Given the description of an element on the screen output the (x, y) to click on. 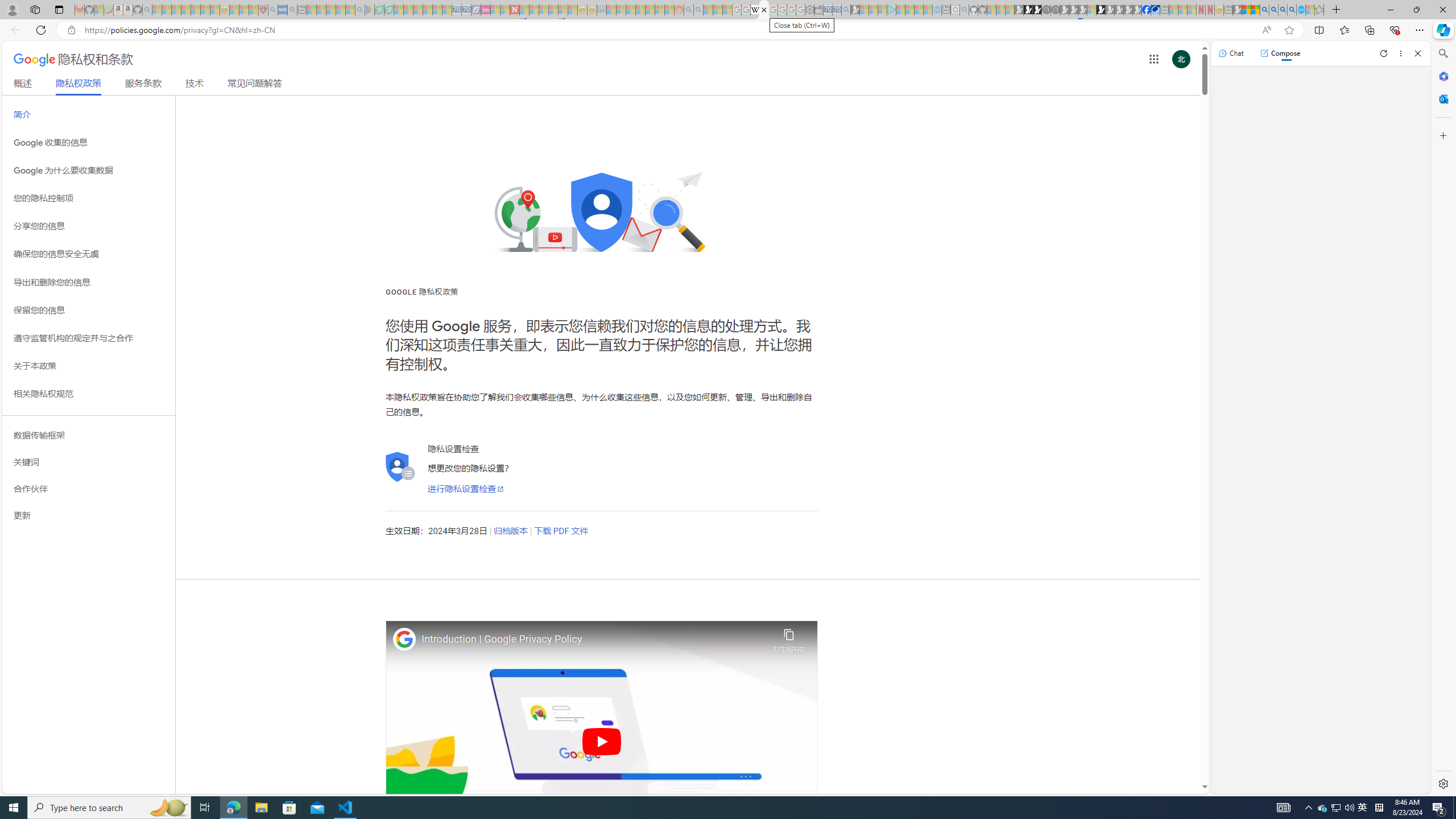
Expert Portfolios - Sleeping (639, 9)
14 Common Myths Debunked By Scientific Facts - Sleeping (533, 9)
Bluey: Let's Play! - Apps on Google Play - Sleeping (369, 9)
Utah sues federal government - Search - Sleeping (697, 9)
Jobs - lastminute.com Investor Portal - Sleeping (485, 9)
